Given the description of an element on the screen output the (x, y) to click on. 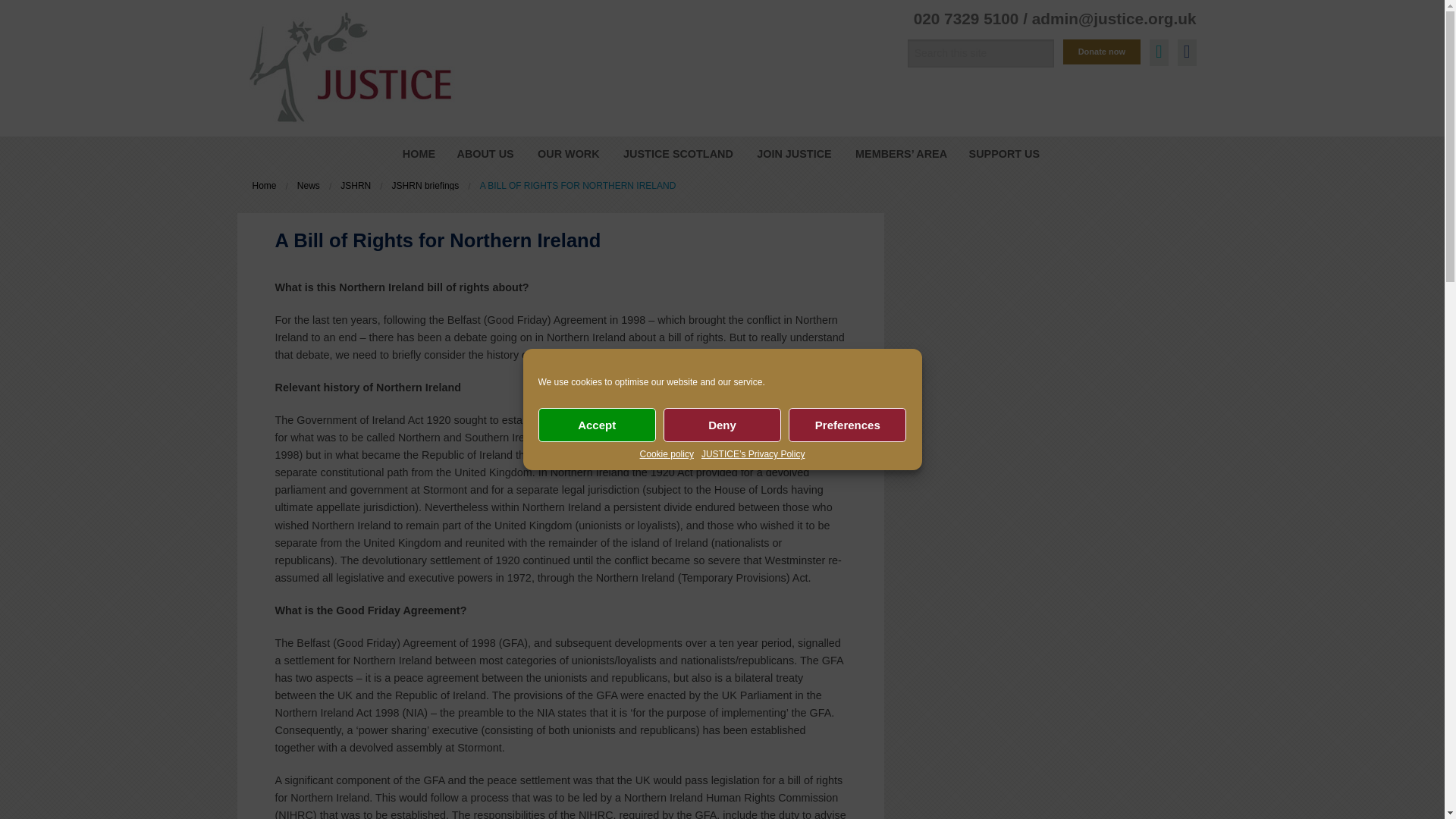
ABOUT US (485, 153)
Our People (485, 204)
Cookie policy (667, 453)
Go to the JSHRN category archives. (355, 185)
Preferences (847, 424)
HOME (418, 153)
Accept (597, 424)
Our Strategy: 2021-2024 (485, 182)
Go to News. (308, 185)
Go to the JSHRN briefings category archives. (425, 185)
